Given the description of an element on the screen output the (x, y) to click on. 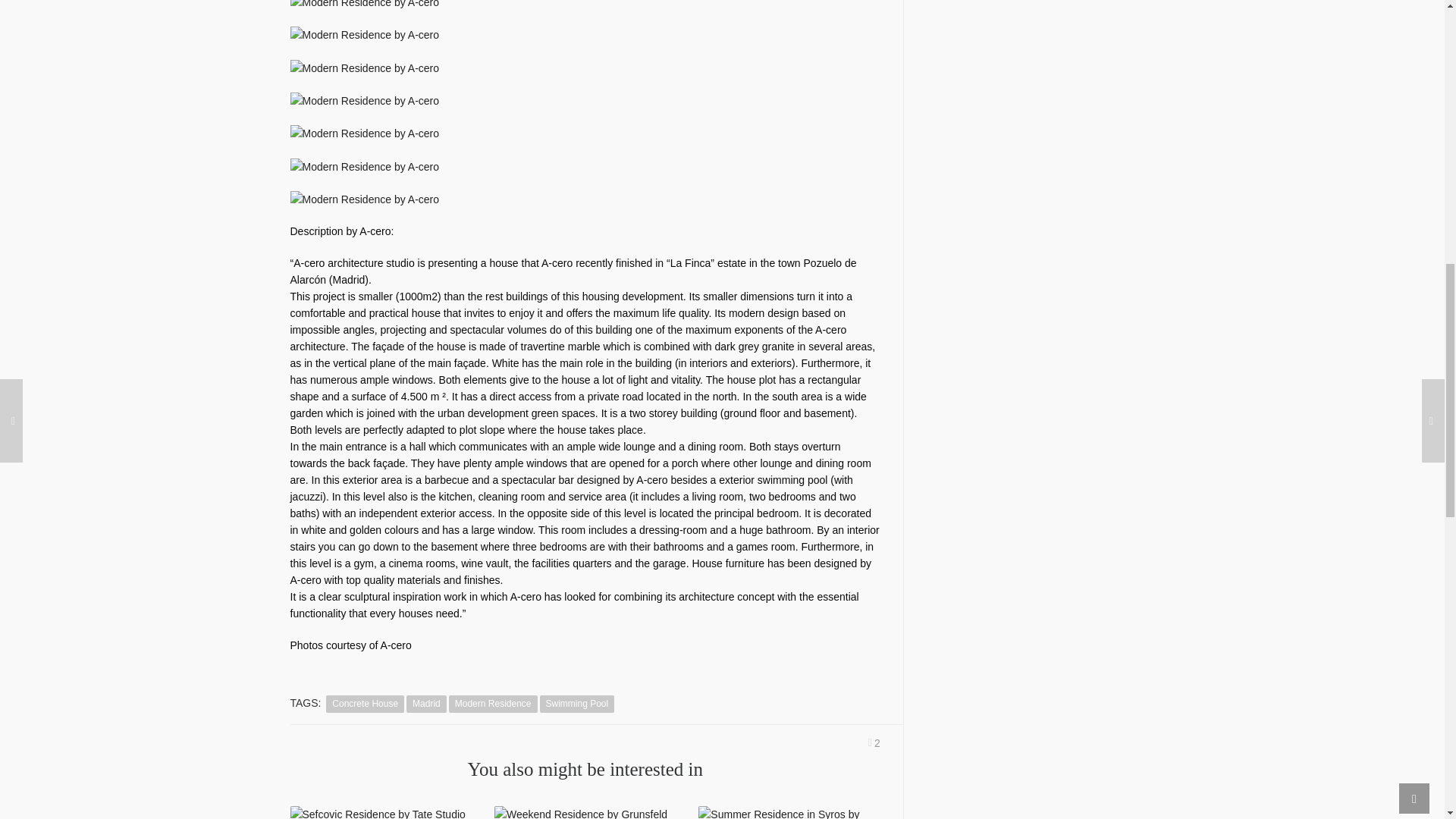
Summer Residence in Syros by block722 (788, 812)
Sefcovic Residence by Tate Studio Architects (379, 812)
Weekend Residence by Grunsfeld Shafer Architects (585, 812)
